Given the description of an element on the screen output the (x, y) to click on. 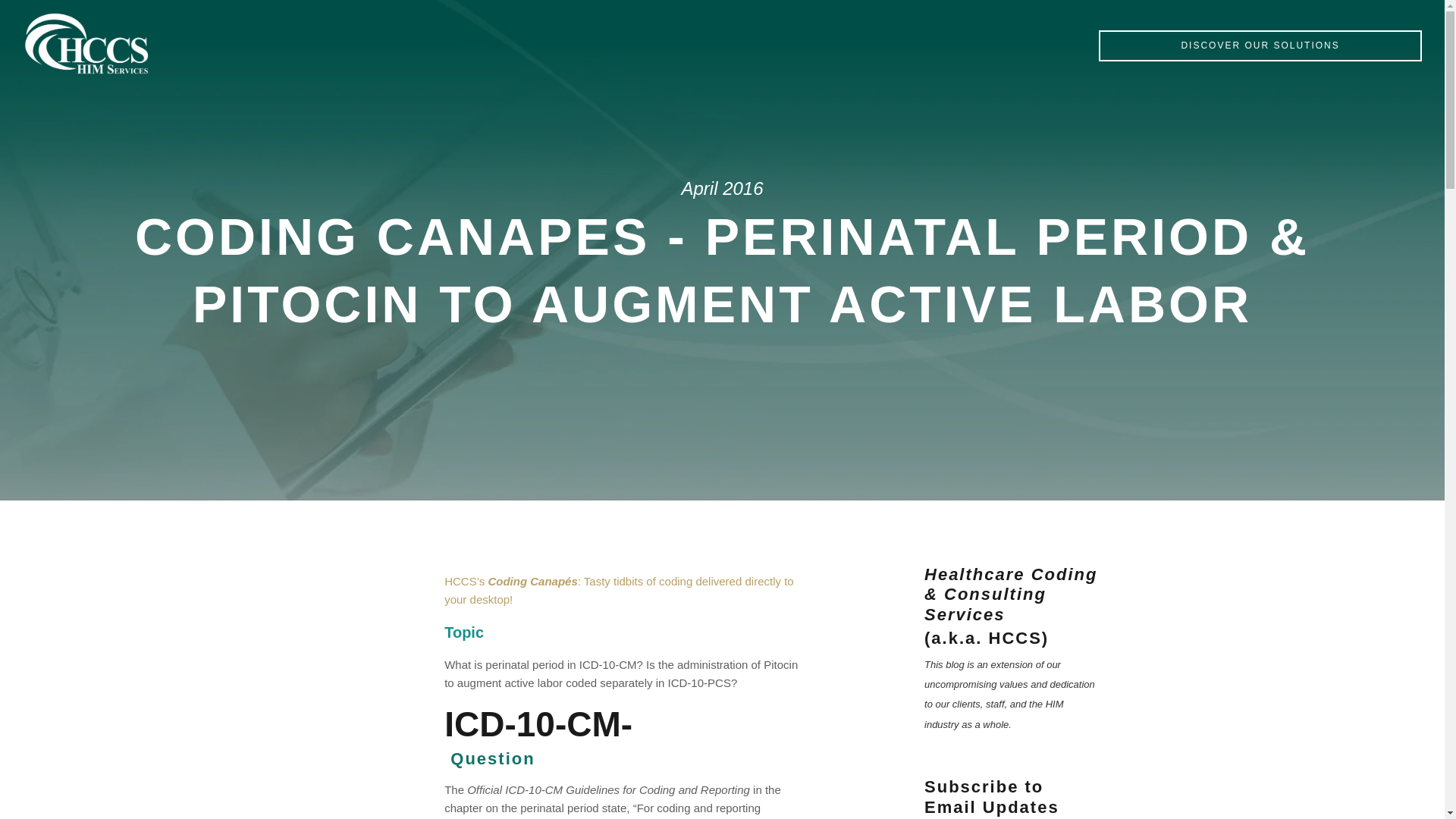
Discover our solutions (1260, 45)
DISCOVER OUR SOLUTIONS (1260, 45)
HCCSLogo-TransBG-HIMServices - White-1.png (87, 43)
